Given the description of an element on the screen output the (x, y) to click on. 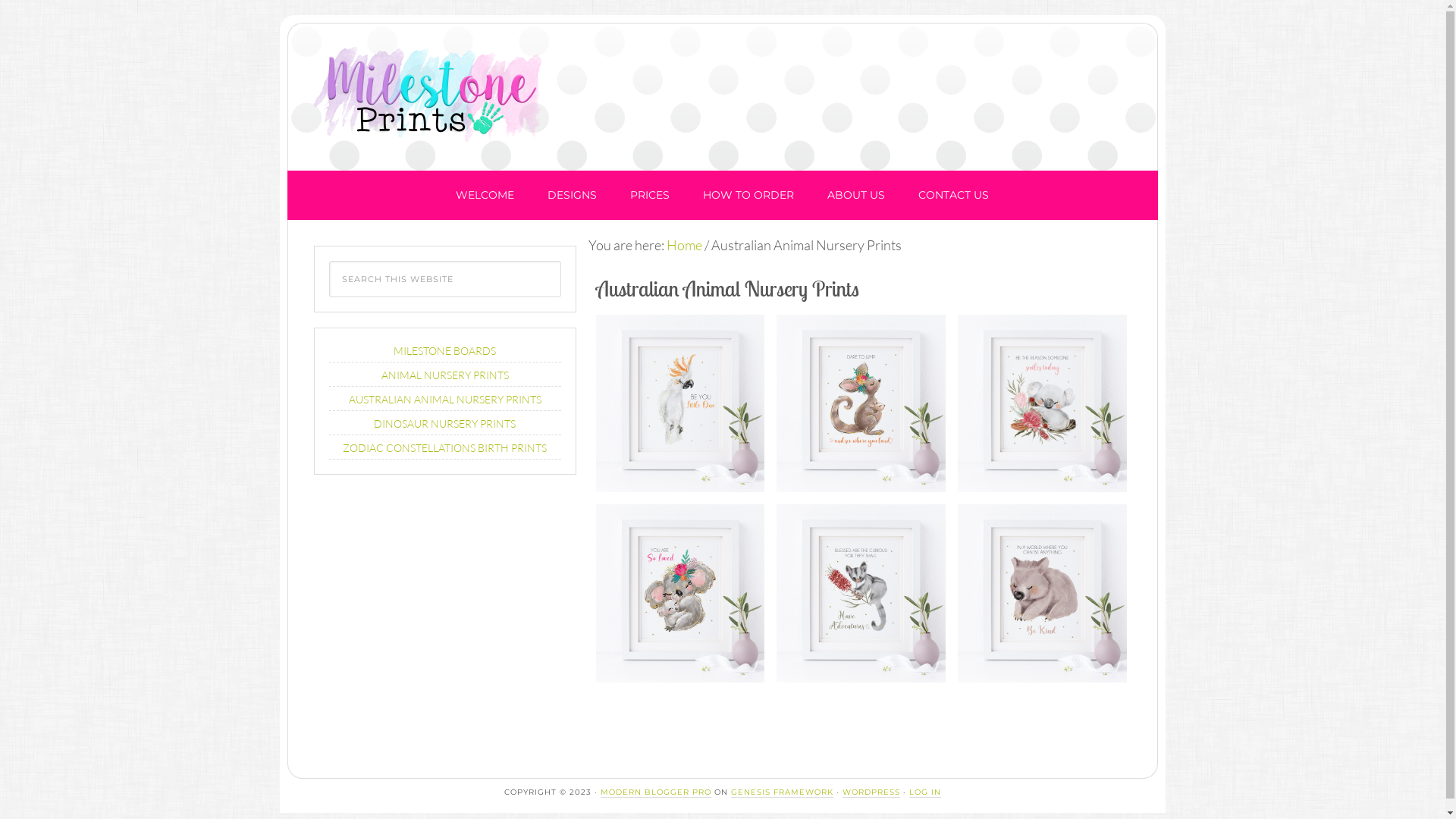
PRICES Element type: text (649, 194)
ANIMAL NURSERY PRINTS Element type: text (444, 374)
MILESTONE BOARDS Element type: text (444, 350)
ABOUT US Element type: text (856, 194)
GENESIS FRAMEWORK Element type: text (782, 792)
HOW TO ORDER Element type: text (748, 194)
Home Element type: text (683, 244)
ZODIAC CONSTELLATIONS BIRTH PRINTS Element type: text (444, 447)
WORDPRESS Element type: text (870, 792)
WELCOME Element type: text (484, 194)
LOG IN Element type: text (924, 792)
Milestone Prints Element type: text (431, 93)
CONTACT US Element type: text (953, 194)
MODERN BLOGGER PRO Element type: text (655, 792)
AUSTRALIAN ANIMAL NURSERY PRINTS Element type: text (444, 398)
DINOSAUR NURSERY PRINTS Element type: text (444, 423)
Search Element type: text (559, 260)
DESIGNS Element type: text (571, 194)
